Given the description of an element on the screen output the (x, y) to click on. 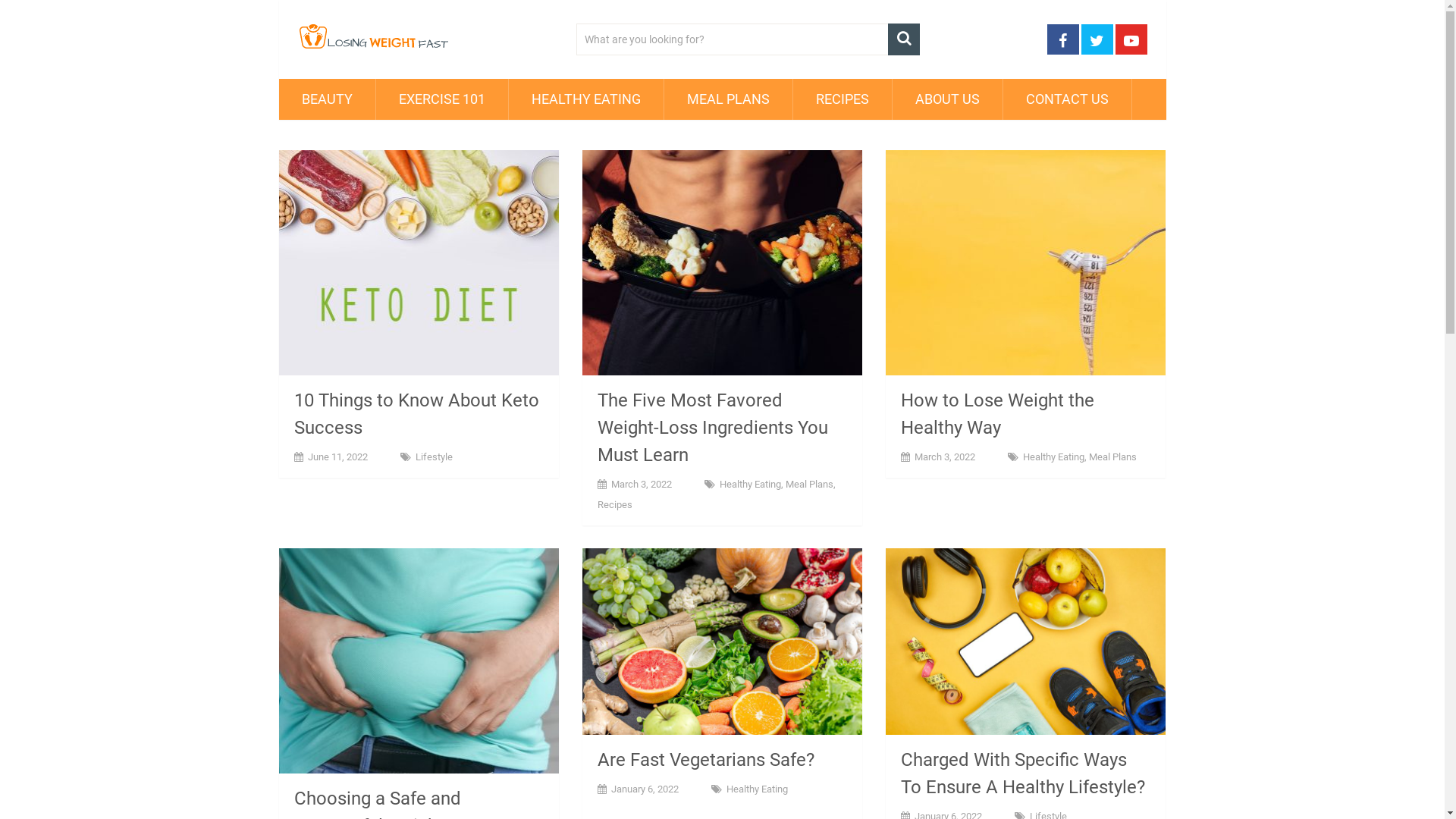
How to Lose Weight the Healthy Way Element type: text (997, 413)
10 Things to Know About Keto Success Element type: text (416, 413)
Healthy Eating Element type: text (756, 788)
Healthy Eating Element type: text (750, 483)
The Five Most Favored Weight-Loss Ingredients You Must Learn Element type: hover (722, 262)
How to Lose Weight the Healthy Way Element type: hover (1025, 262)
Healthy Eating Element type: text (1053, 456)
HEALTHY EATING Element type: text (585, 98)
Charged With Specific Ways To Ensure A Healthy Lifestyle? Element type: hover (1025, 641)
EXERCISE 101 Element type: text (442, 98)
Choosing a Safe and Successful Weight Loss Program Element type: hover (419, 660)
10 Things to Know About Keto Success Element type: hover (419, 262)
Recipes Element type: text (614, 504)
Are Fast Vegetarians Safe? Element type: text (705, 759)
Meal Plans Element type: text (1112, 456)
ABOUT US Element type: text (946, 98)
The Five Most Favored Weight-Loss Ingredients You Must Learn Element type: text (712, 427)
Meal Plans Element type: text (809, 483)
Charged With Specific Ways To Ensure A Healthy Lifestyle? Element type: text (1022, 773)
Lifestyle Element type: text (433, 456)
MEAL PLANS Element type: text (728, 98)
CONTACT US Element type: text (1066, 98)
BEAUTY Element type: text (327, 98)
Are Fast Vegetarians Safe? Element type: hover (722, 641)
RECIPES Element type: text (842, 98)
